Given the description of an element on the screen output the (x, y) to click on. 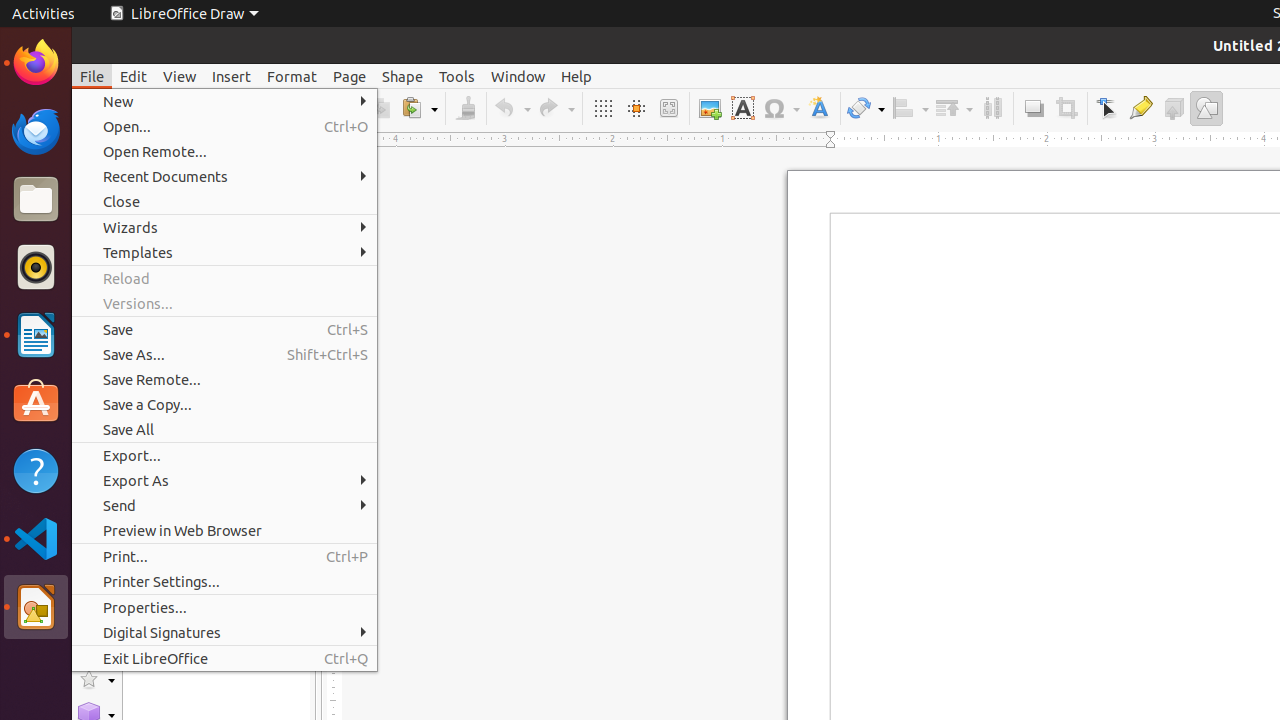
Edit Points Element type: push-button (1107, 108)
Help Element type: menu (576, 76)
Export As Element type: menu (224, 480)
Fontwork Style Element type: toggle-button (819, 108)
Align Element type: push-button (910, 108)
